Given the description of an element on the screen output the (x, y) to click on. 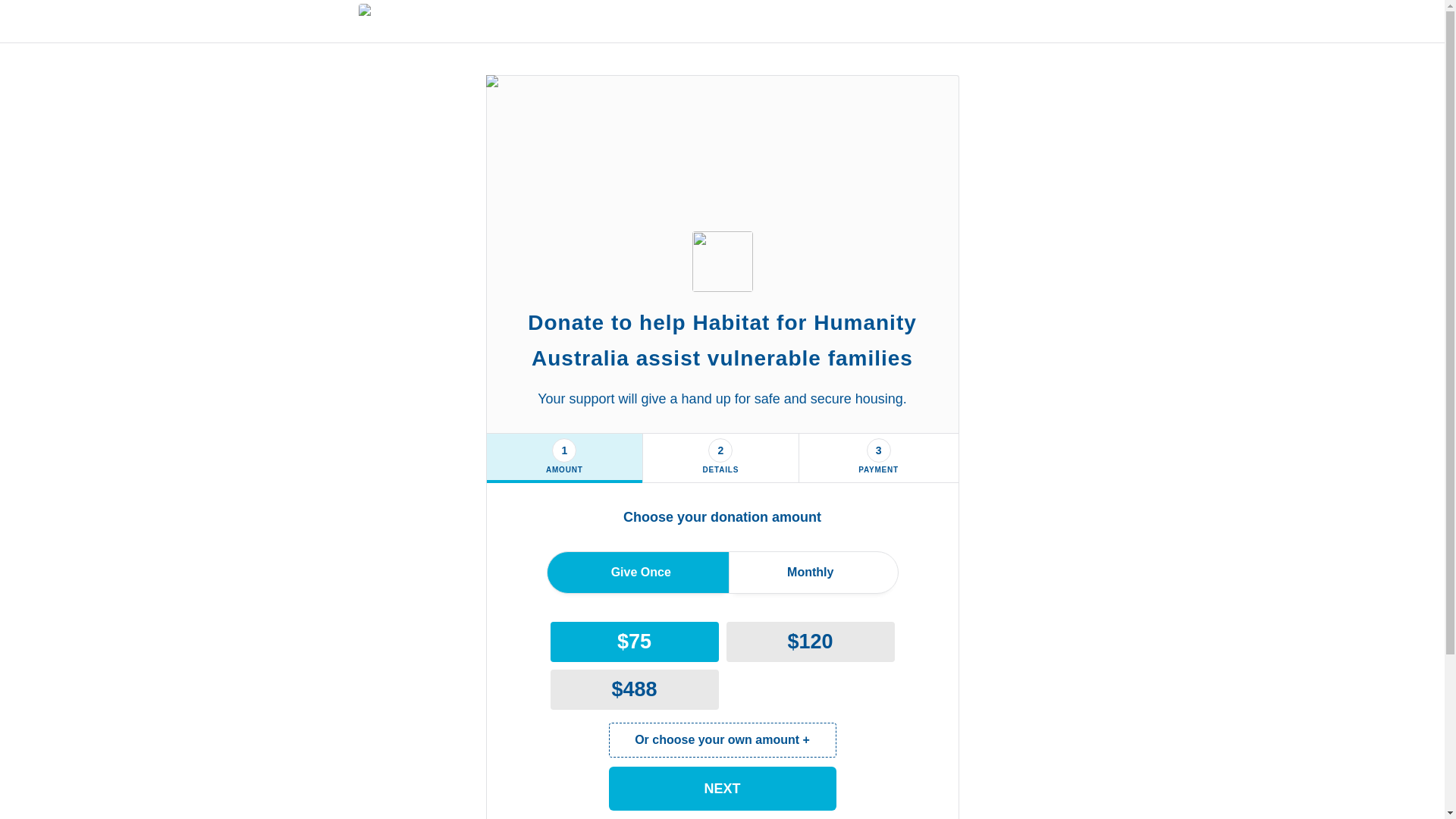
3 Element type: text (878, 450)
1 Element type: text (564, 450)
Or choose your own amount + Element type: text (721, 739)
NEXT Element type: text (721, 788)
3
PAYMENT Element type: text (878, 458)
2 Element type: text (720, 450)
1
AMOUNT Element type: text (564, 458)
2
DETAILS Element type: text (720, 458)
